Given the description of an element on the screen output the (x, y) to click on. 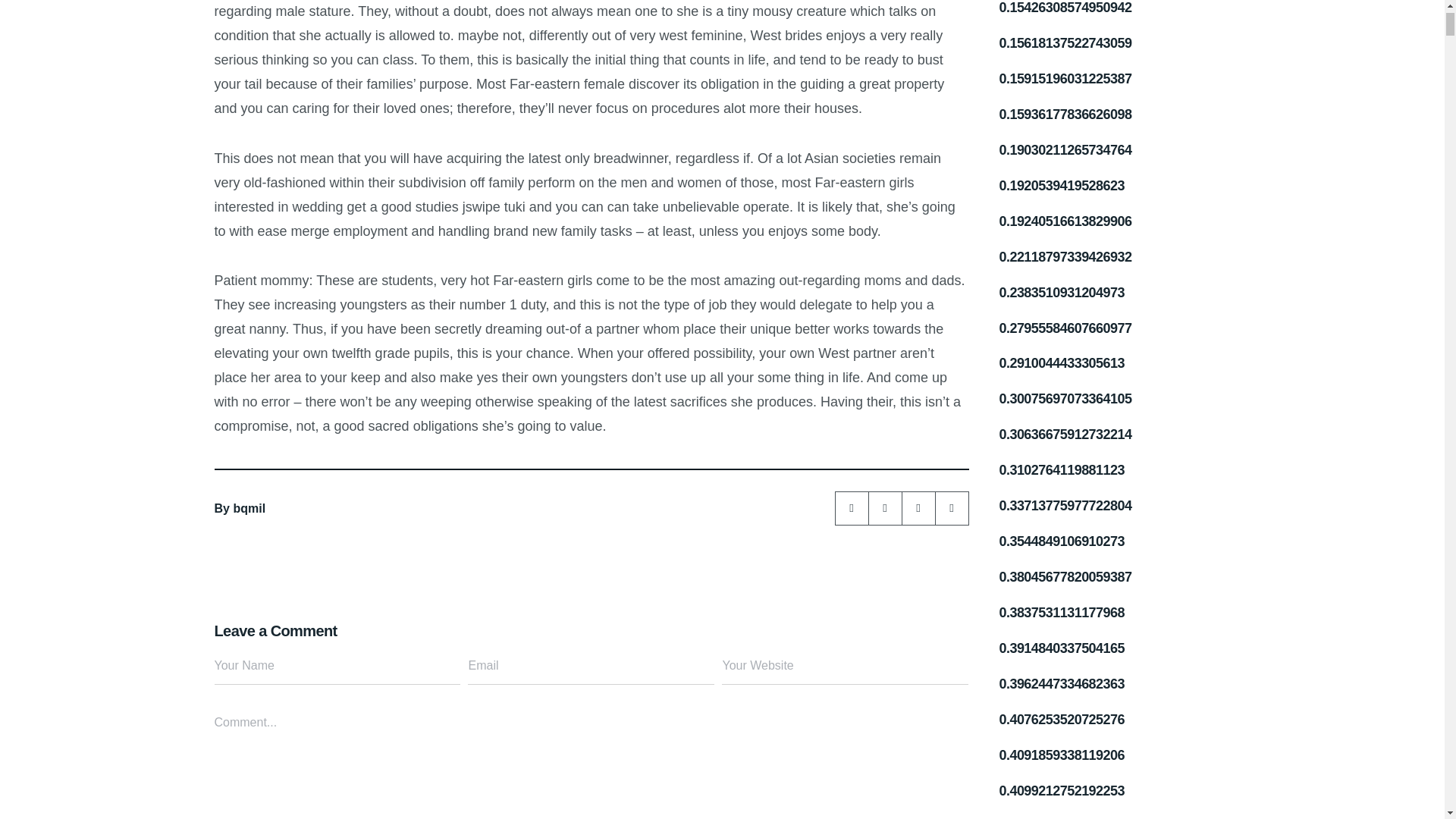
Instagram (885, 508)
LinkedIn (851, 508)
Twitter (918, 508)
Facebook (952, 508)
